Given the description of an element on the screen output the (x, y) to click on. 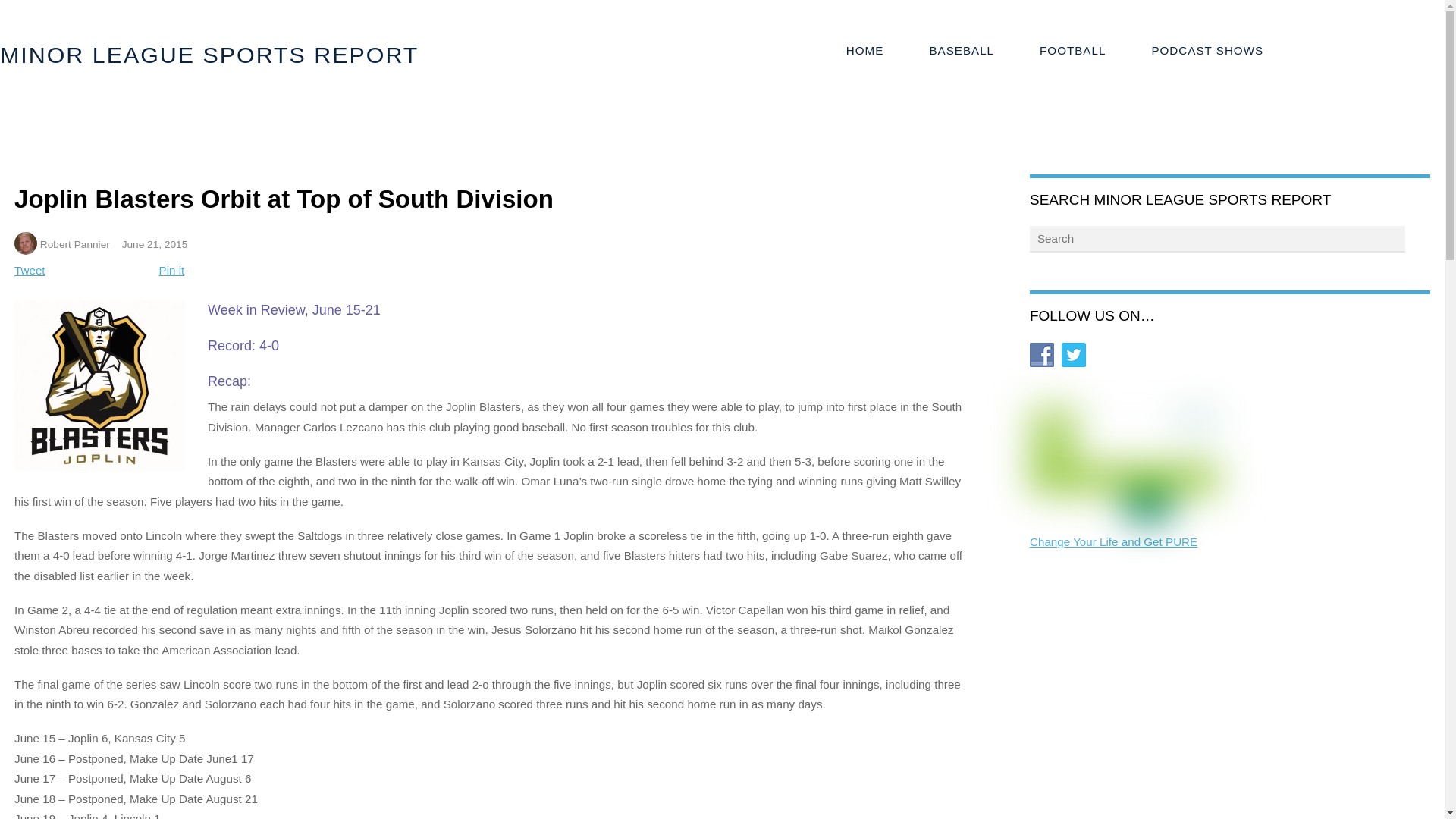
Follow Us On... Facebook (1041, 354)
Change Your Life and Get PURE (1112, 541)
PODCAST SHOWS (1206, 50)
Tweet (29, 269)
HOME (865, 50)
Minor League Sports Report (209, 54)
FOOTBALL (1072, 50)
Robert Pannier (75, 244)
Pin it (171, 269)
MINOR LEAGUE SPORTS REPORT (209, 54)
BASEBALL (960, 50)
